Given the description of an element on the screen output the (x, y) to click on. 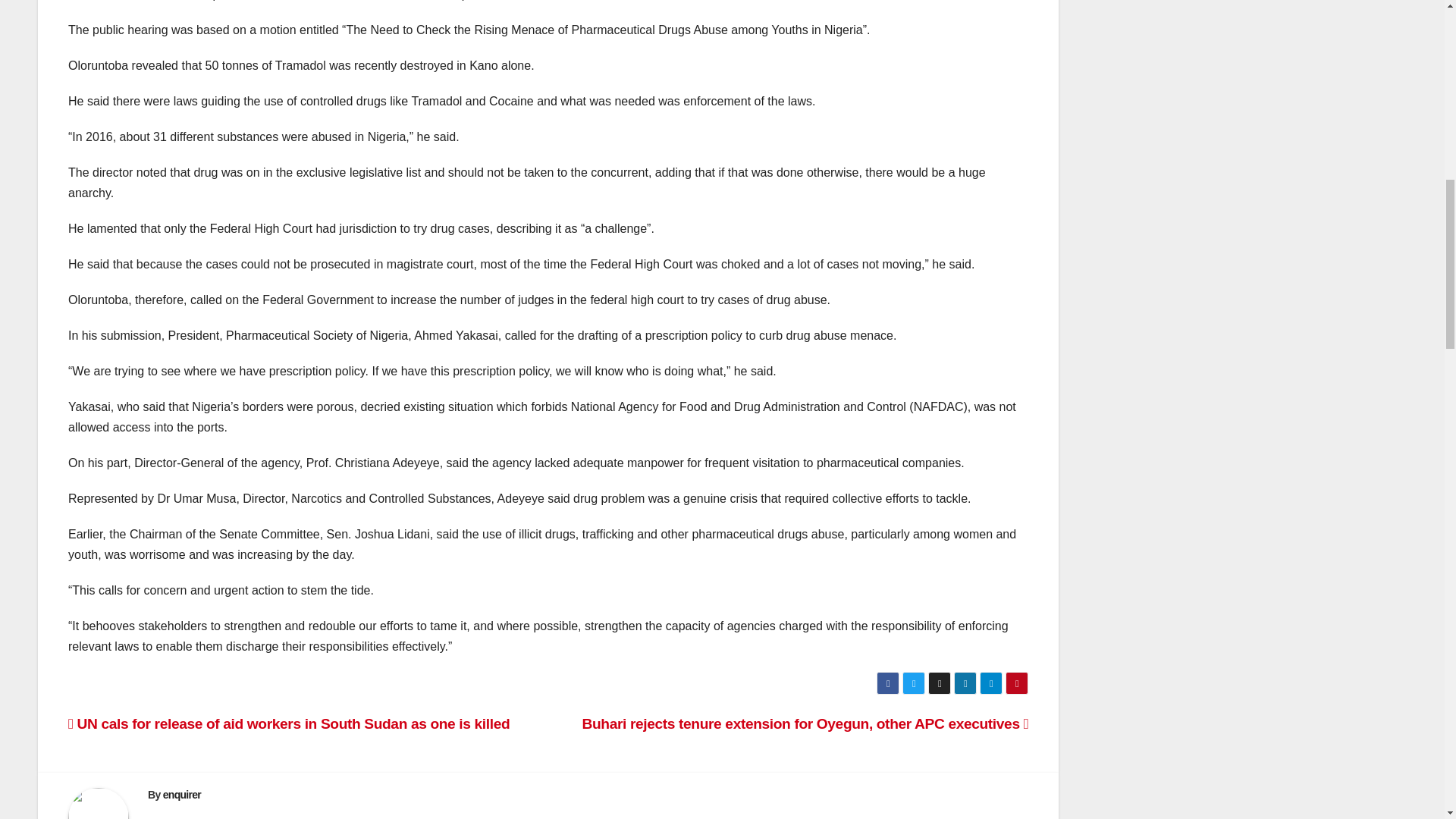
enquirer (181, 794)
